Given the description of an element on the screen output the (x, y) to click on. 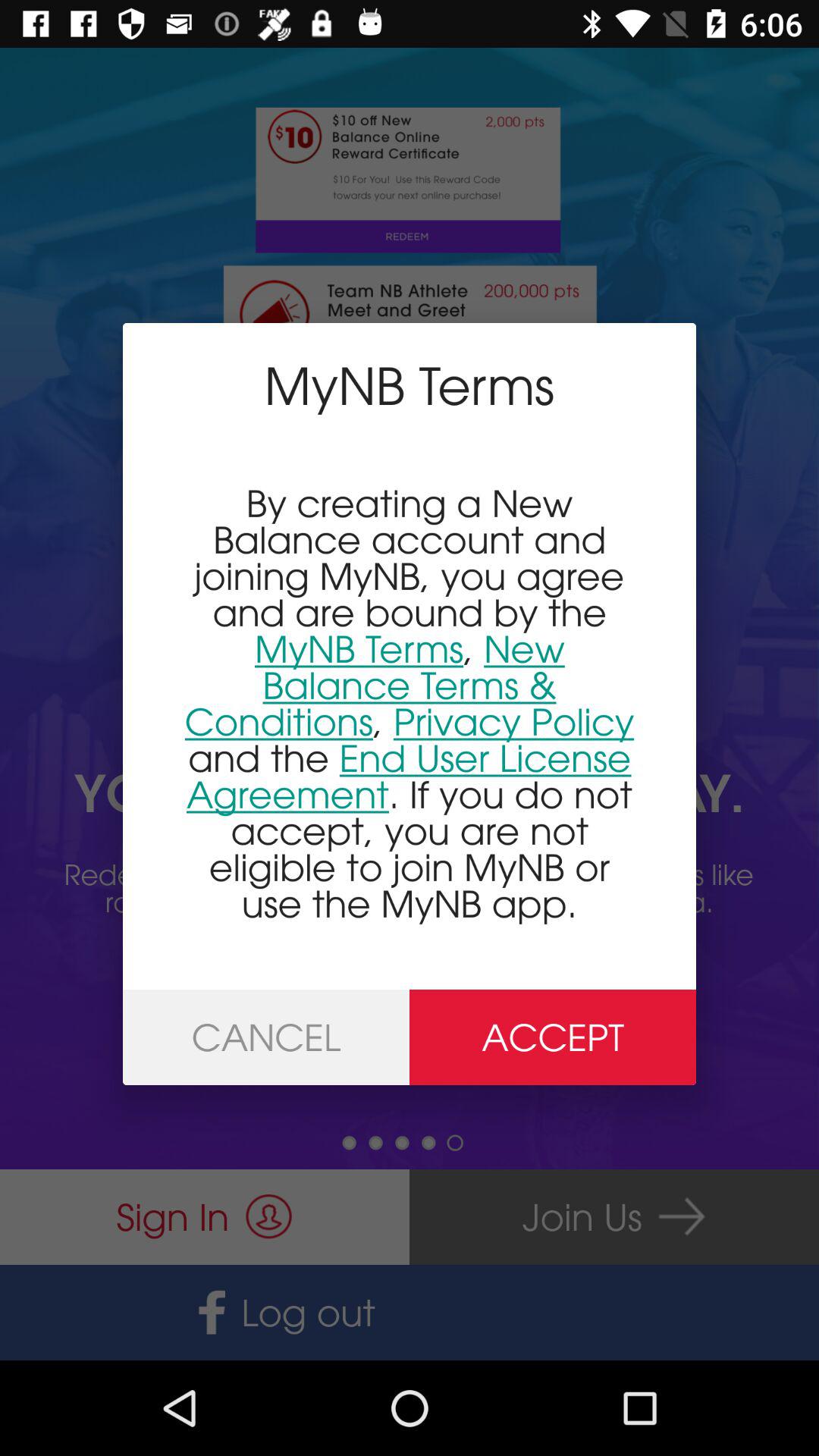
tap the item to the right of cancel item (552, 1037)
